Given the description of an element on the screen output the (x, y) to click on. 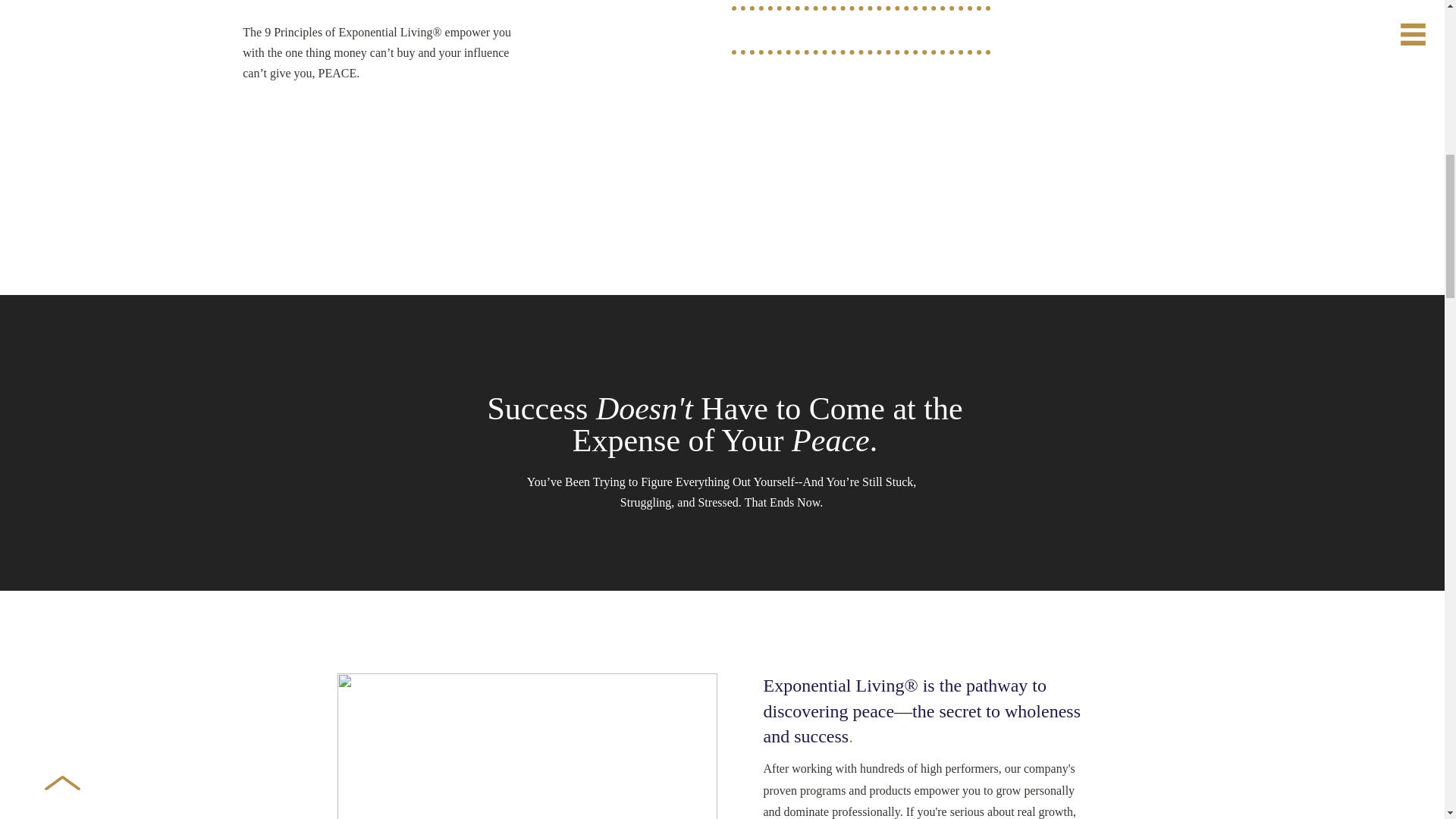
brick-wall-in-room-2000.jpg (526, 746)
